Given the description of an element on the screen output the (x, y) to click on. 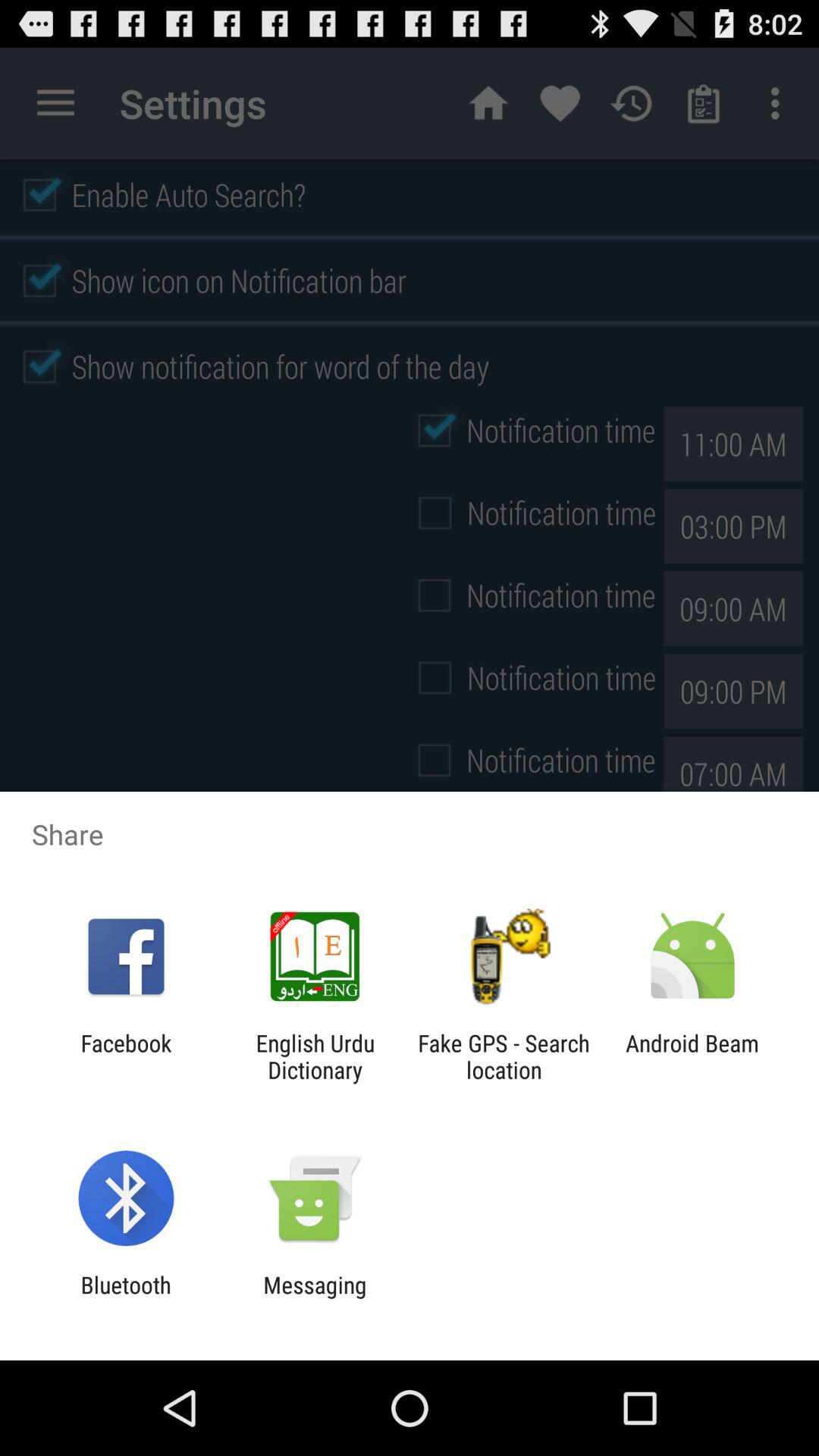
launch the icon next to fake gps search app (314, 1056)
